Given the description of an element on the screen output the (x, y) to click on. 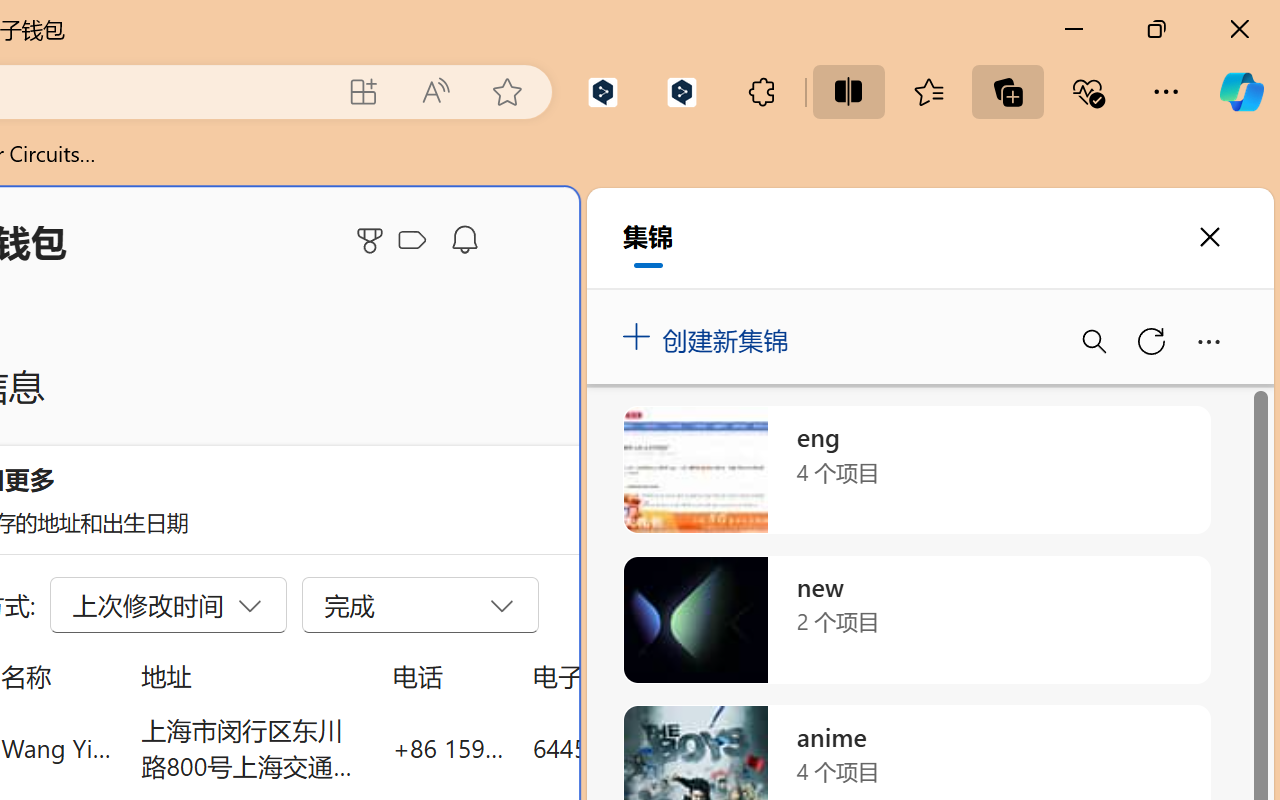
644553698@qq.com (644, 747)
